Given the description of an element on the screen output the (x, y) to click on. 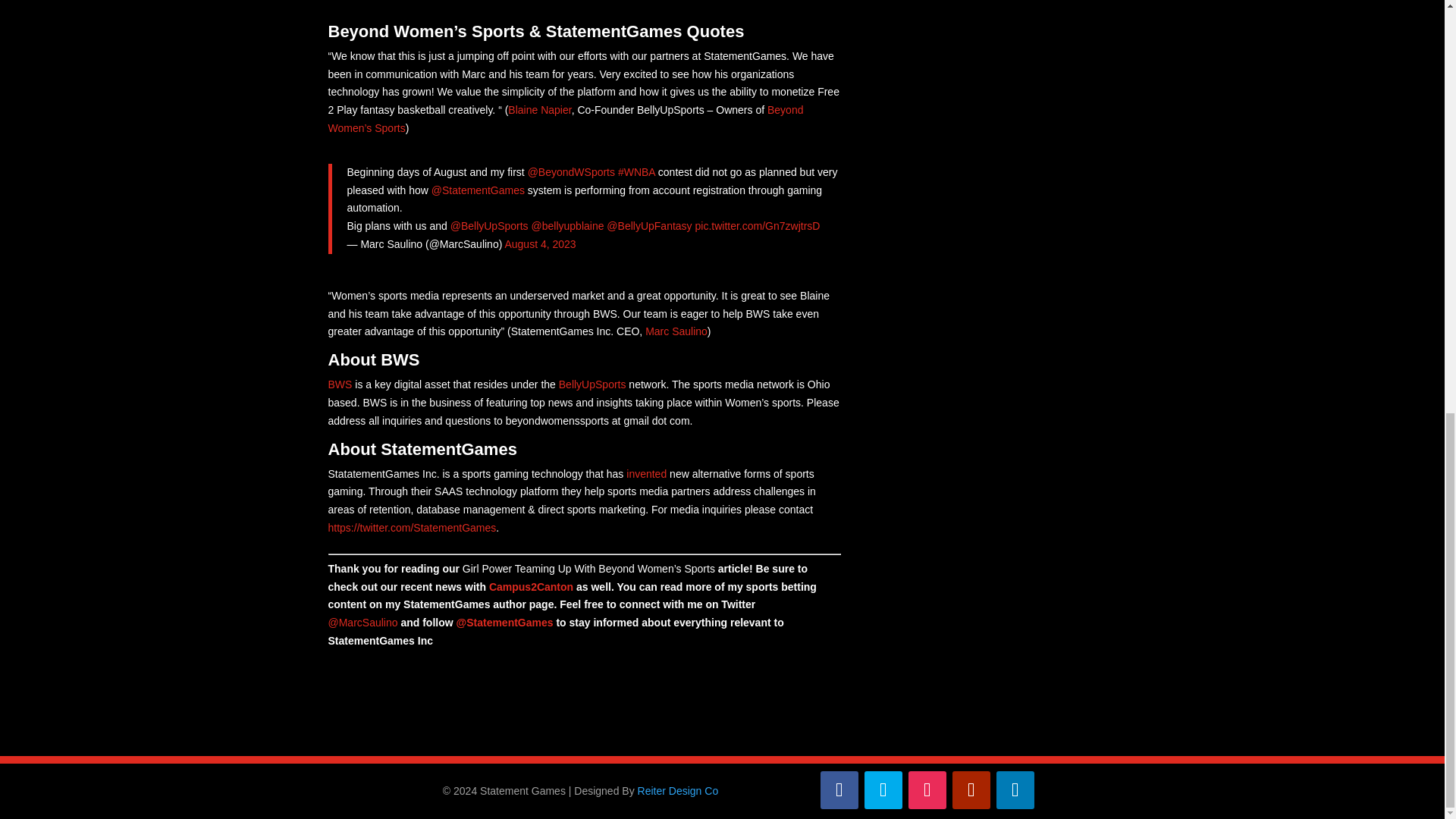
BellyUpSports (592, 384)
Marc Saulino (676, 331)
Follow on Instagram (927, 790)
August 4, 2023 (539, 244)
Blaine Napier (539, 110)
BWS (339, 384)
Follow on Youtube (971, 790)
Follow on Twitter (883, 790)
Follow on LinkedIn (1014, 790)
Follow on Facebook (840, 790)
